Given the description of an element on the screen output the (x, y) to click on. 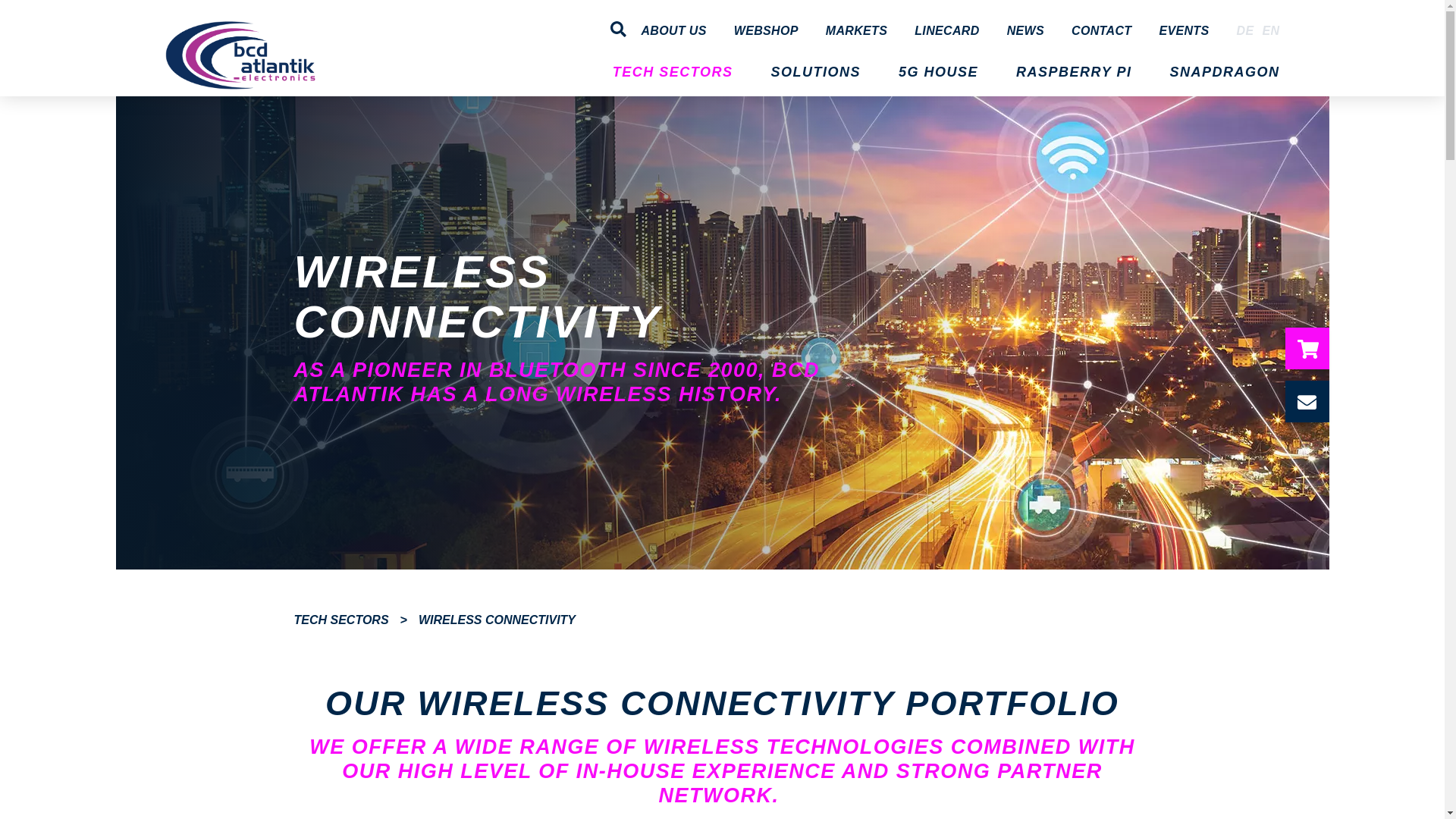
Tech Sectors (341, 619)
